Given the description of an element on the screen output the (x, y) to click on. 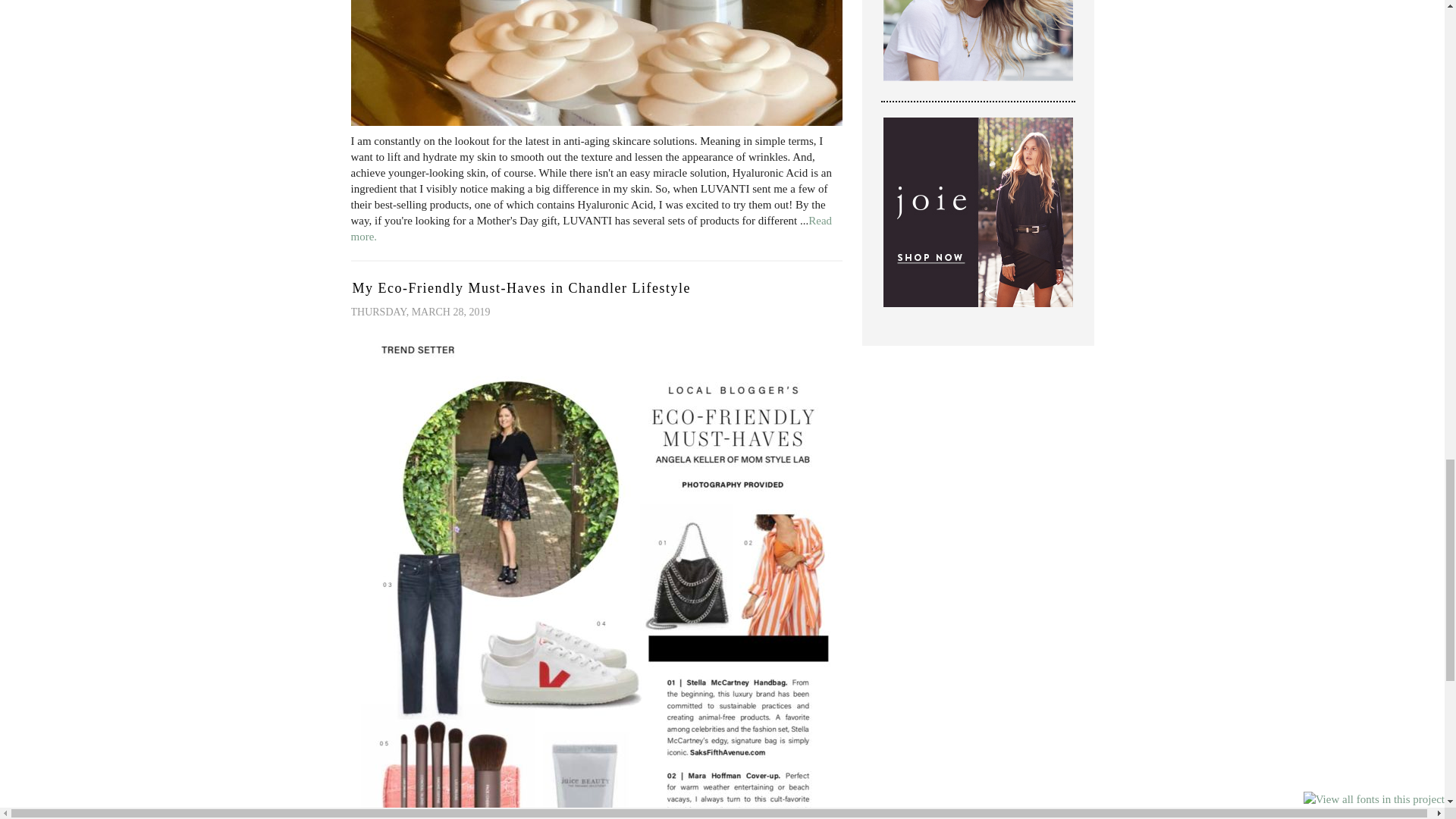
Read more. (590, 228)
My Eco-Friendly Must-Haves in Chandler Lifestyle (520, 288)
